Given the description of an element on the screen output the (x, y) to click on. 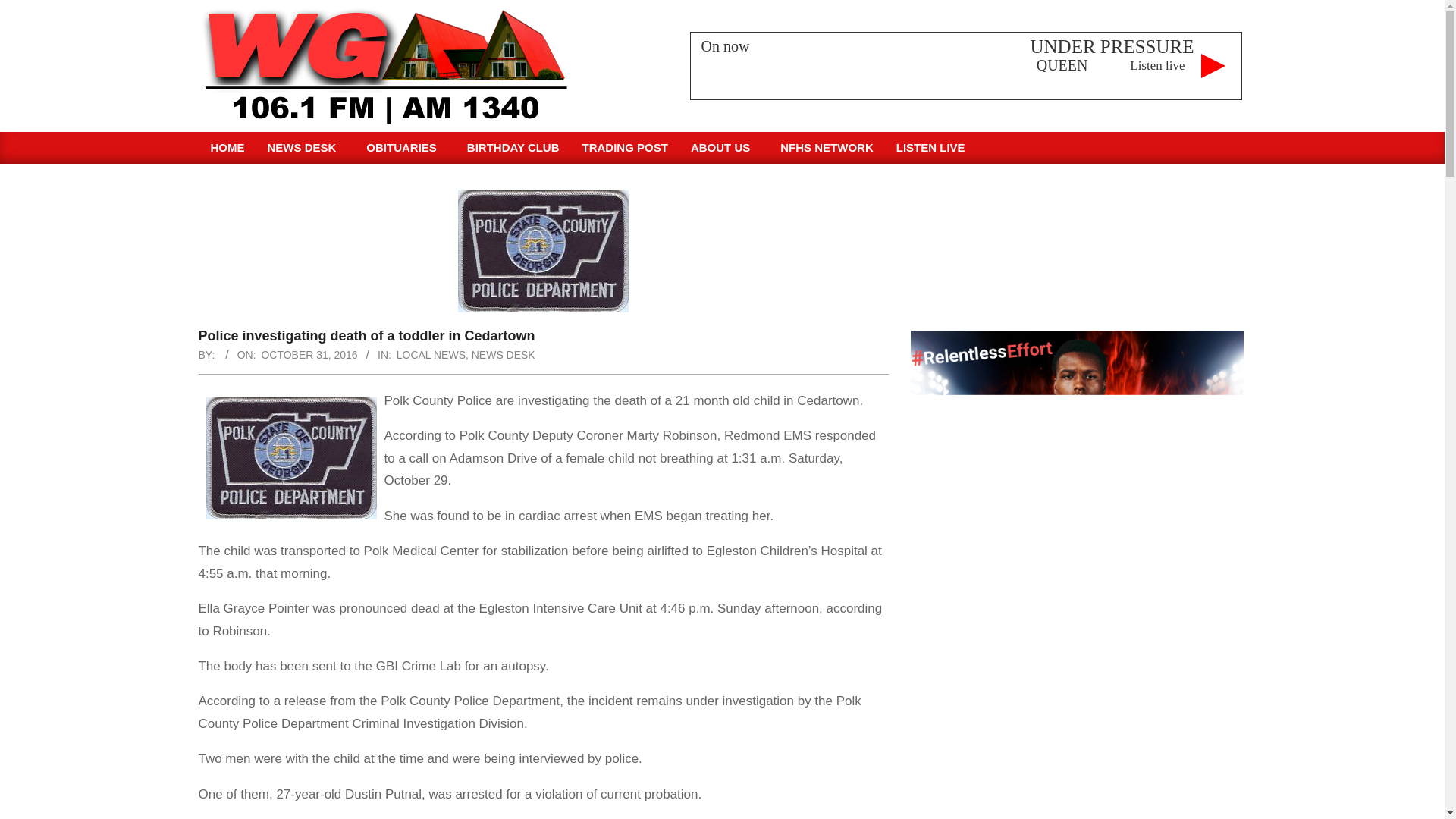
Polk County Police (291, 458)
LISTEN LIVE (930, 147)
Weather Widget (1076, 246)
CEDARTOWN WEATHER (1076, 246)
OBITUARIES (405, 147)
NEWS DESK (305, 147)
NFHS NETWORK (826, 147)
LOCAL NEWS (430, 354)
BIRTHDAY CLUB (512, 147)
